Given the description of an element on the screen output the (x, y) to click on. 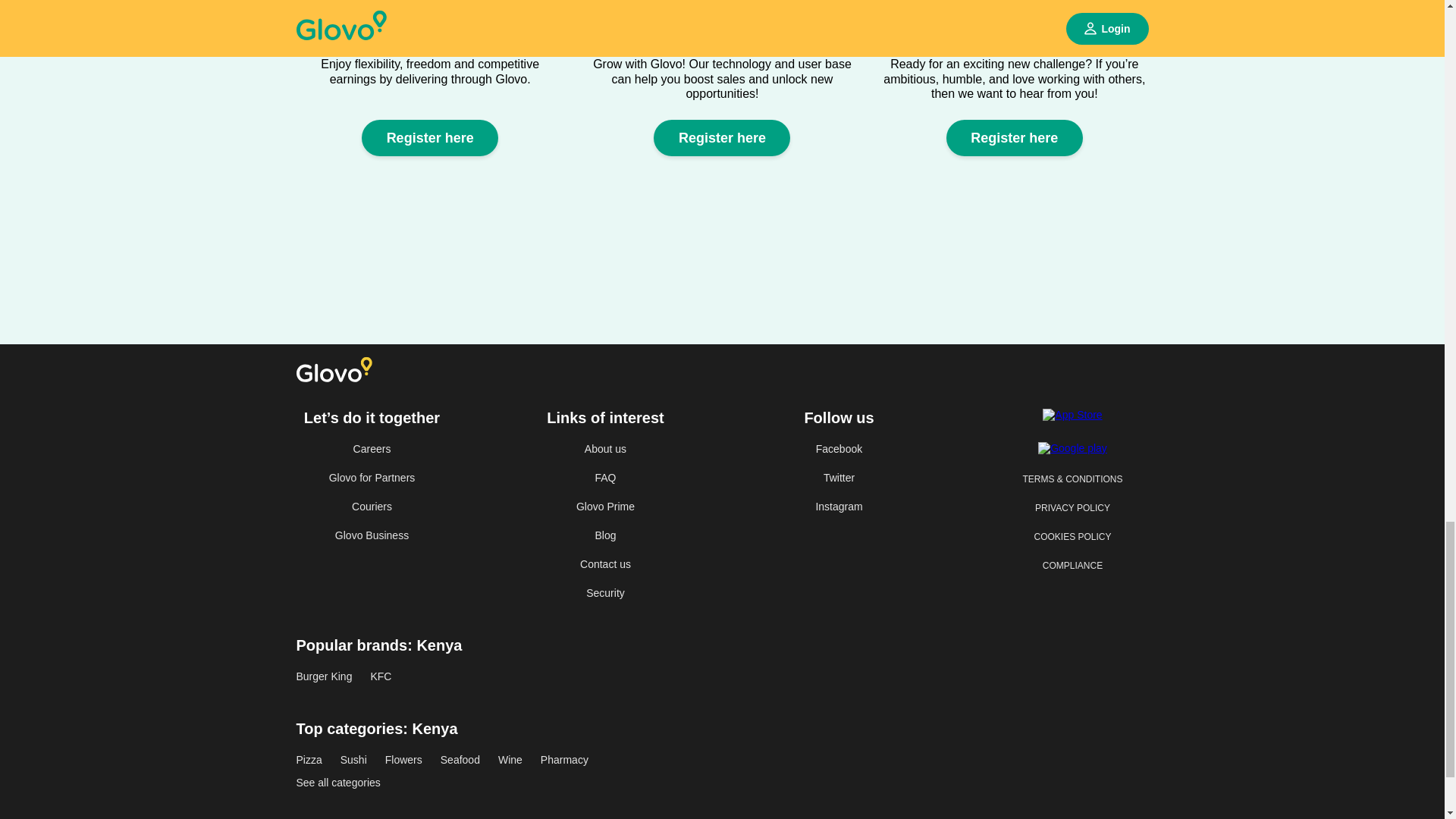
Register here (429, 137)
Couriers (370, 506)
FAQ (605, 477)
Twitter (838, 477)
Register here (429, 137)
Instagram (838, 506)
Register here (1014, 137)
About us (605, 448)
Facebook (838, 448)
Glovo Prime (605, 506)
